Given the description of an element on the screen output the (x, y) to click on. 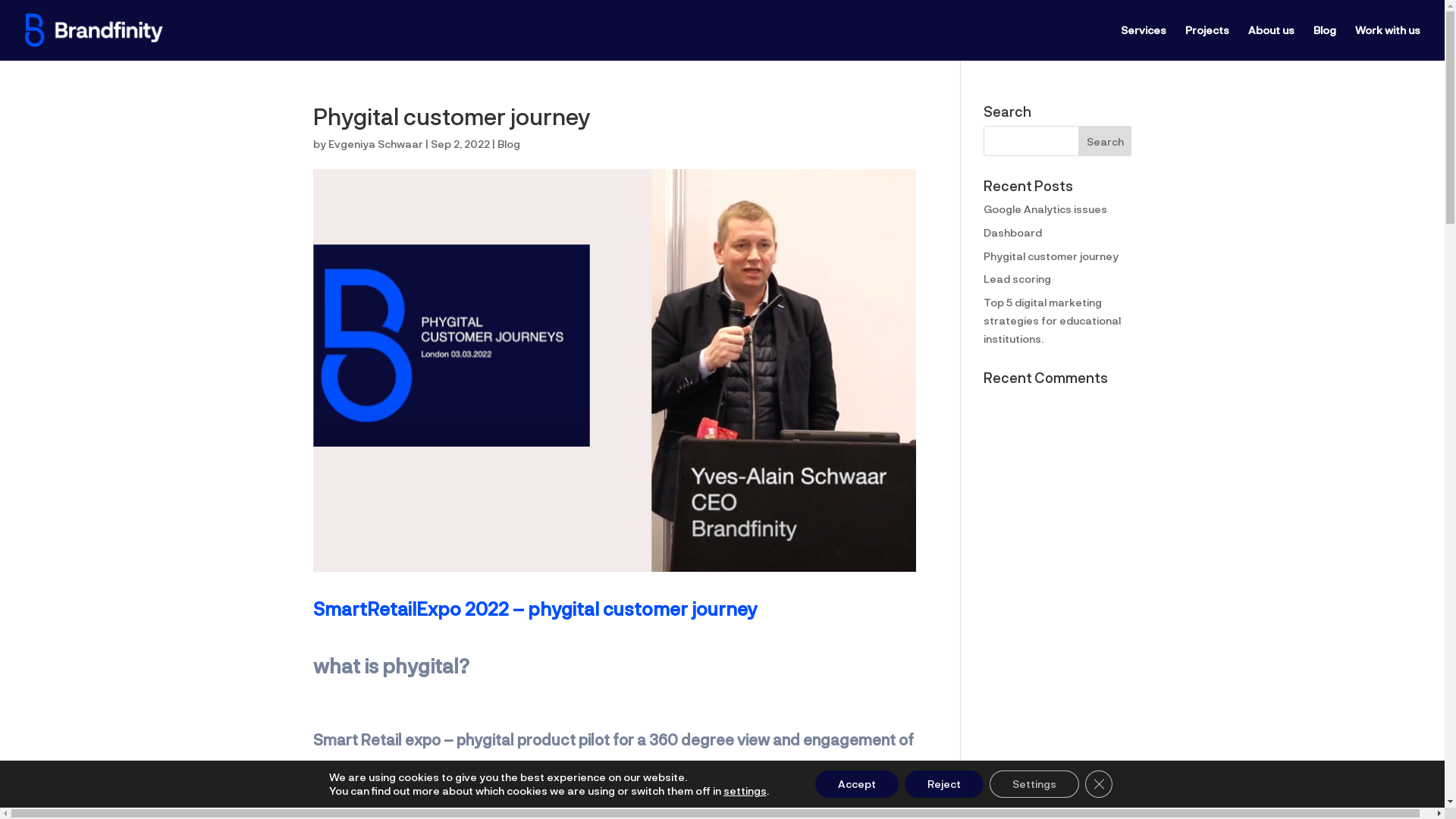
Phygital customer journey Element type: text (1050, 255)
Search Element type: text (1105, 140)
Blog Element type: text (1324, 42)
Blog Element type: text (508, 143)
Accept Element type: text (856, 783)
Services Element type: text (1143, 42)
Reject Element type: text (943, 783)
Google Analytics issues Element type: text (1045, 208)
Dashboard Element type: text (1012, 231)
Lead scoring Element type: text (1017, 278)
Evgeniya Schwaar Element type: text (374, 143)
About us Element type: text (1271, 42)
Close GDPR Cookie Banner Element type: text (1098, 783)
Settings Element type: text (1034, 783)
settings Element type: text (744, 790)
Projects Element type: text (1207, 42)
Work with us Element type: text (1387, 42)
